Given the description of an element on the screen output the (x, y) to click on. 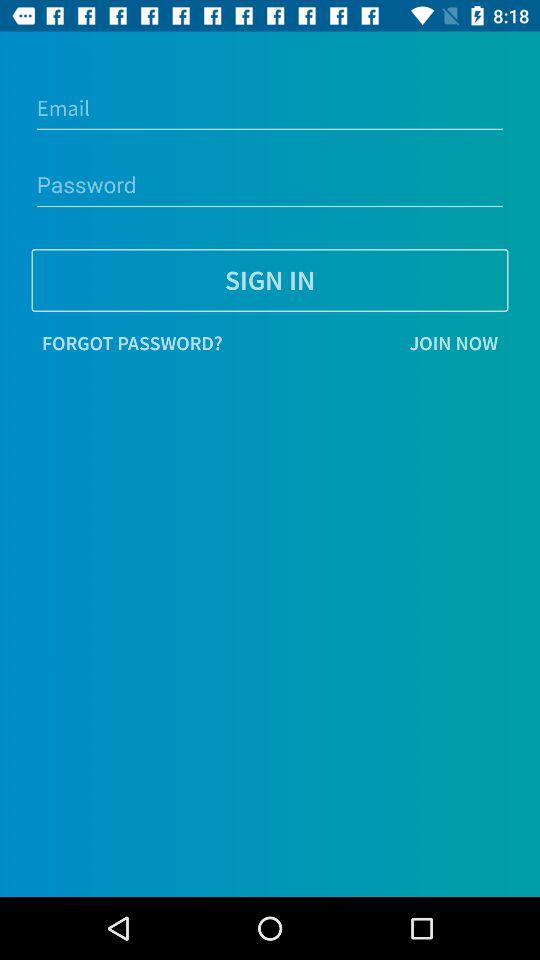
jump to join now (370, 343)
